Given the description of an element on the screen output the (x, y) to click on. 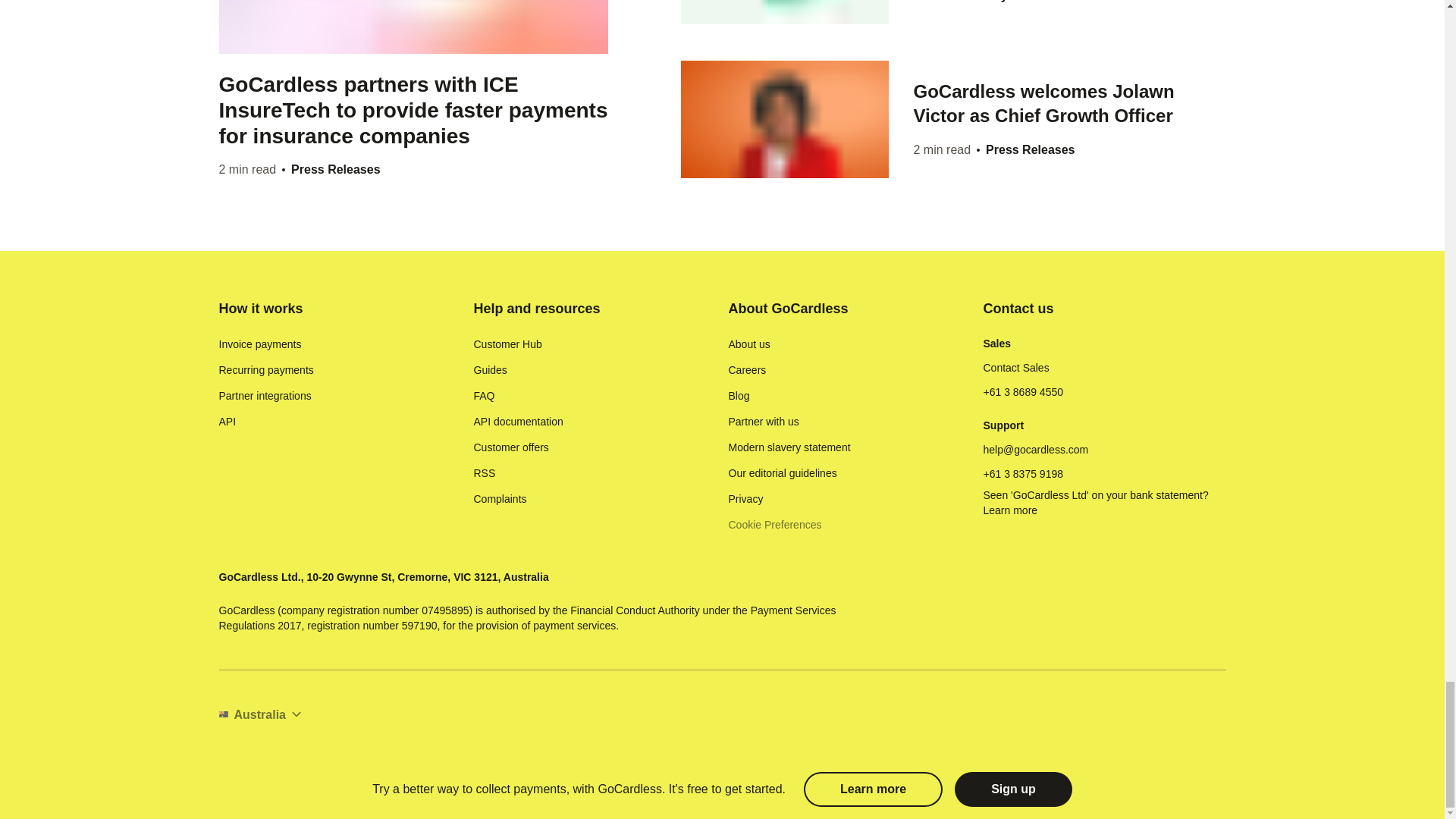
About us (749, 344)
Our editorial guidelines (781, 473)
Modern slavery statement (789, 447)
Guides (489, 369)
Invoice payments (259, 344)
API documentation (517, 421)
Partner integrations (264, 395)
FAQ (484, 395)
Customer offers (510, 447)
Careers (746, 369)
